Given the description of an element on the screen output the (x, y) to click on. 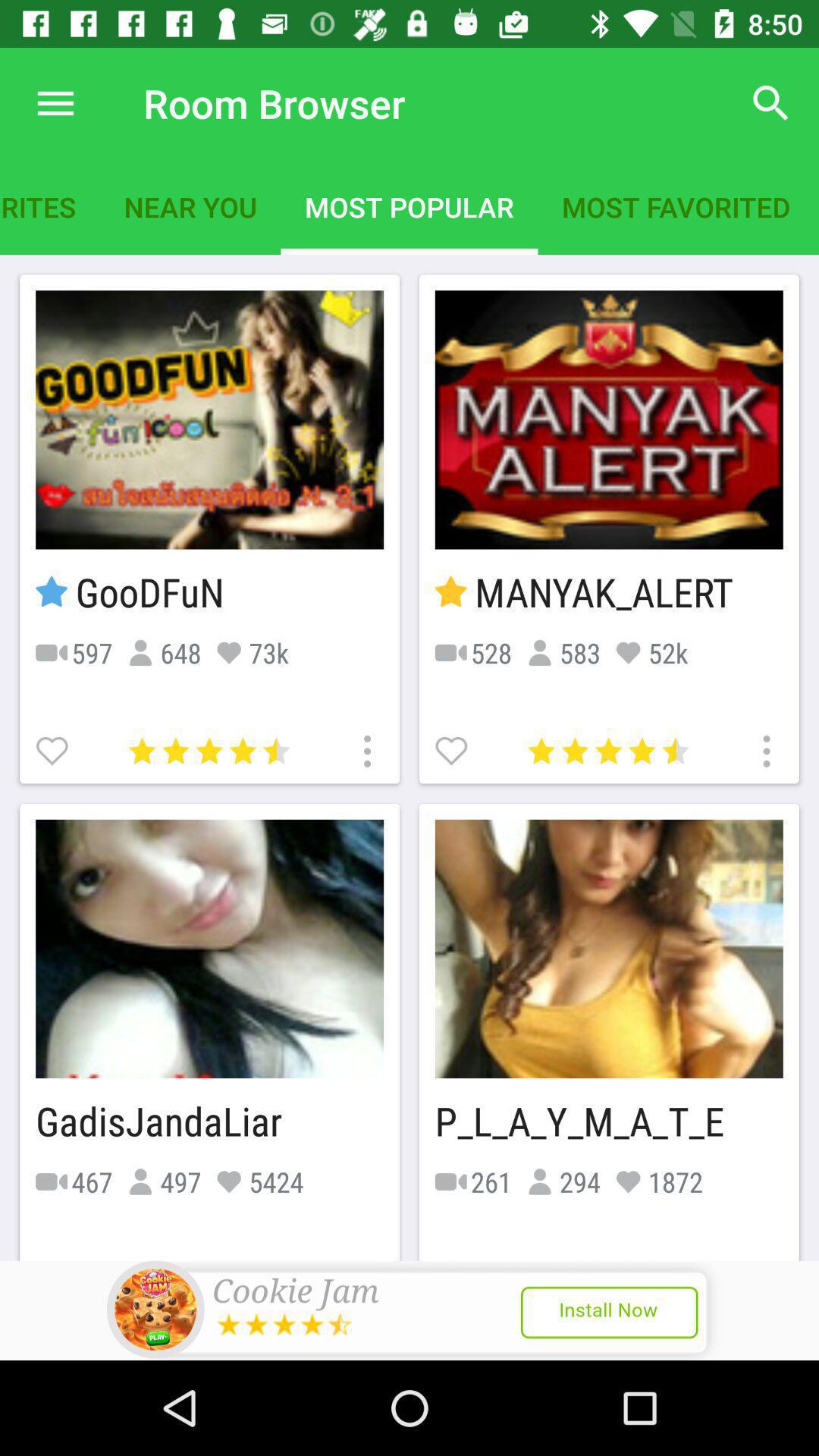
select as favorite (53, 749)
